Given the description of an element on the screen output the (x, y) to click on. 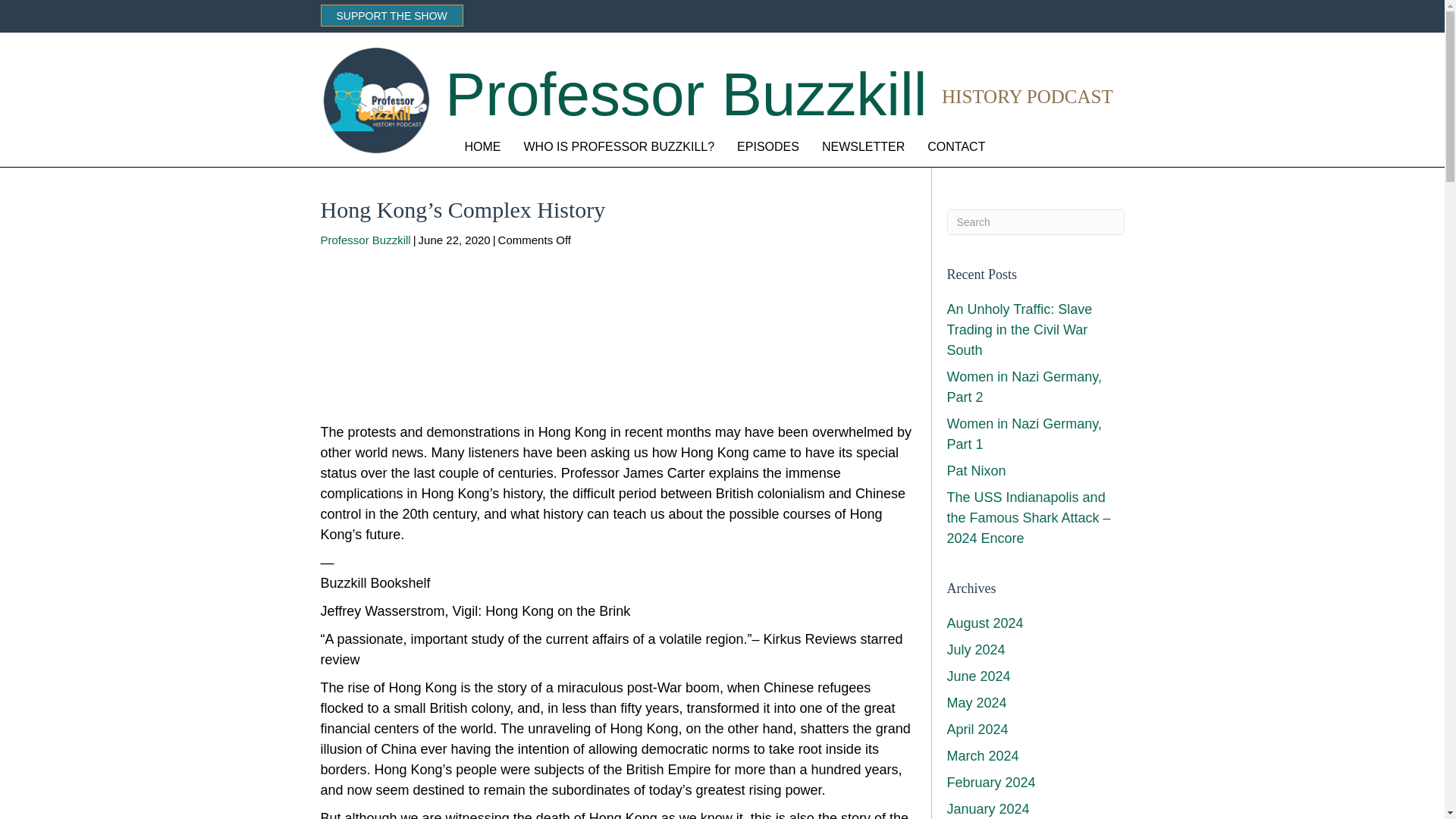
An Unholy Traffic: Slave Trading in the Civil War South (1019, 329)
HOME (482, 146)
January 2024 (987, 808)
May 2024 (976, 702)
Professor Buzzkill (365, 239)
EPISODES (767, 146)
March 2024 (981, 755)
Women in Nazi Germany, Part 2 (1023, 386)
August 2024 (984, 622)
Pat Nixon (976, 470)
